Given the description of an element on the screen output the (x, y) to click on. 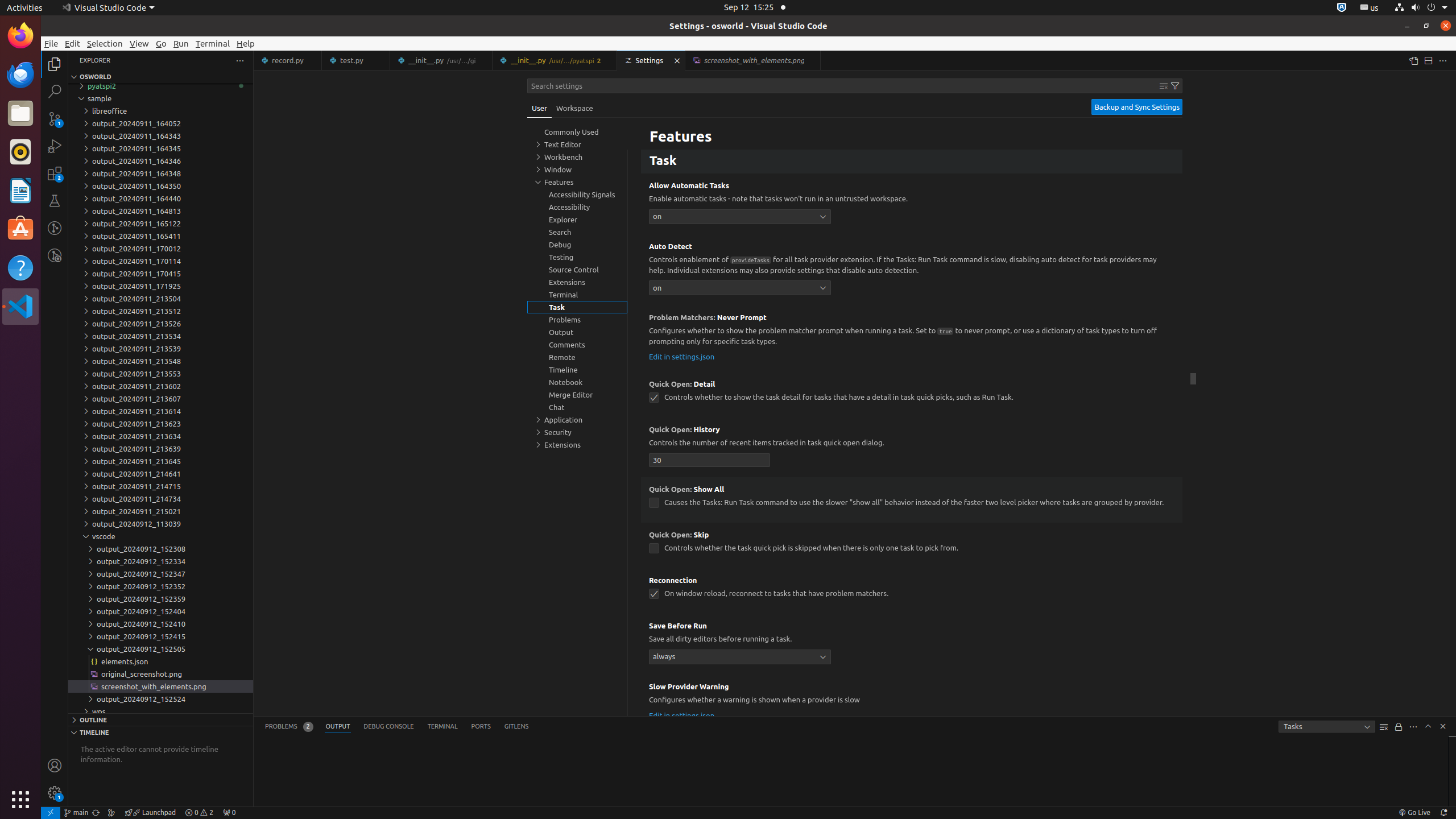
output_20240911_164813 Element type: tree-item (160, 210)
Timeline Section Element type: push-button (160, 731)
output_20240911_213526 Element type: tree-item (160, 323)
Terminal Element type: push-button (212, 43)
